Given the description of an element on the screen output the (x, y) to click on. 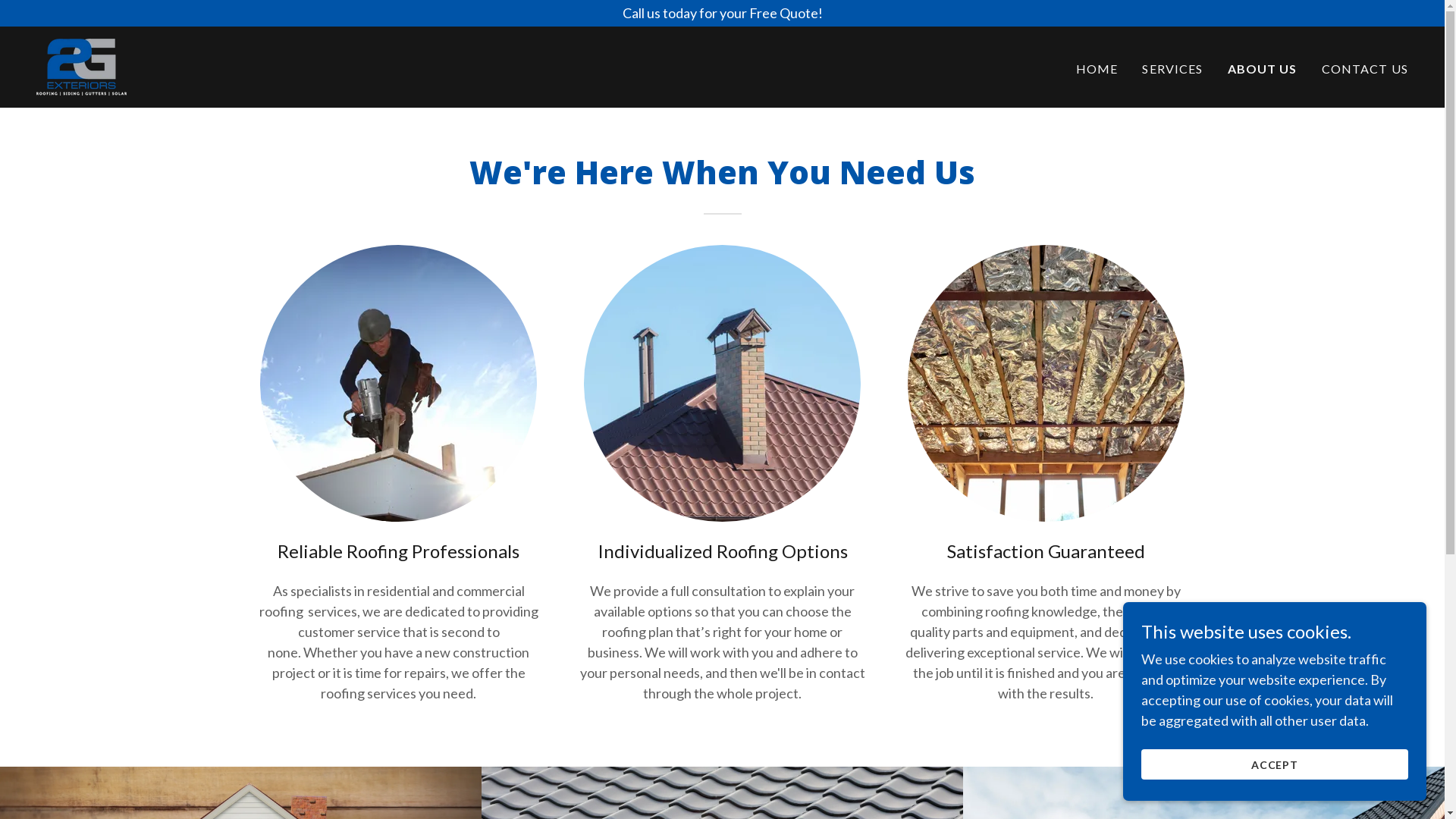
SERVICES Element type: text (1172, 68)
ACCEPT Element type: text (1274, 764)
2G Exteriors Element type: hover (81, 64)
ABOUT US Element type: text (1262, 68)
HOME Element type: text (1097, 68)
CONTACT US Element type: text (1364, 68)
